Given the description of an element on the screen output the (x, y) to click on. 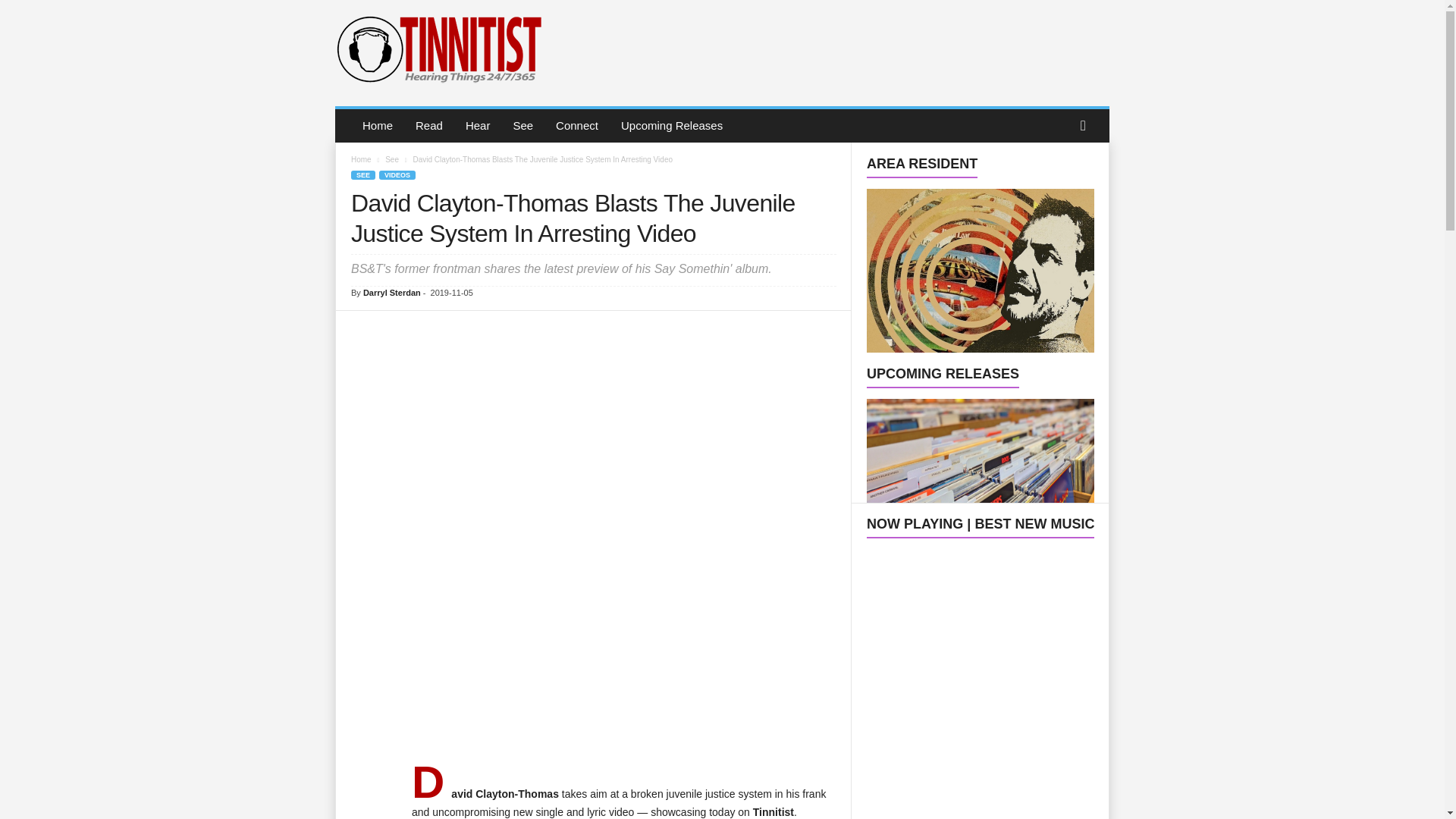
Read (429, 125)
Tinnitist (437, 48)
Home (377, 125)
Tinnitist (437, 49)
